Given the description of an element on the screen output the (x, y) to click on. 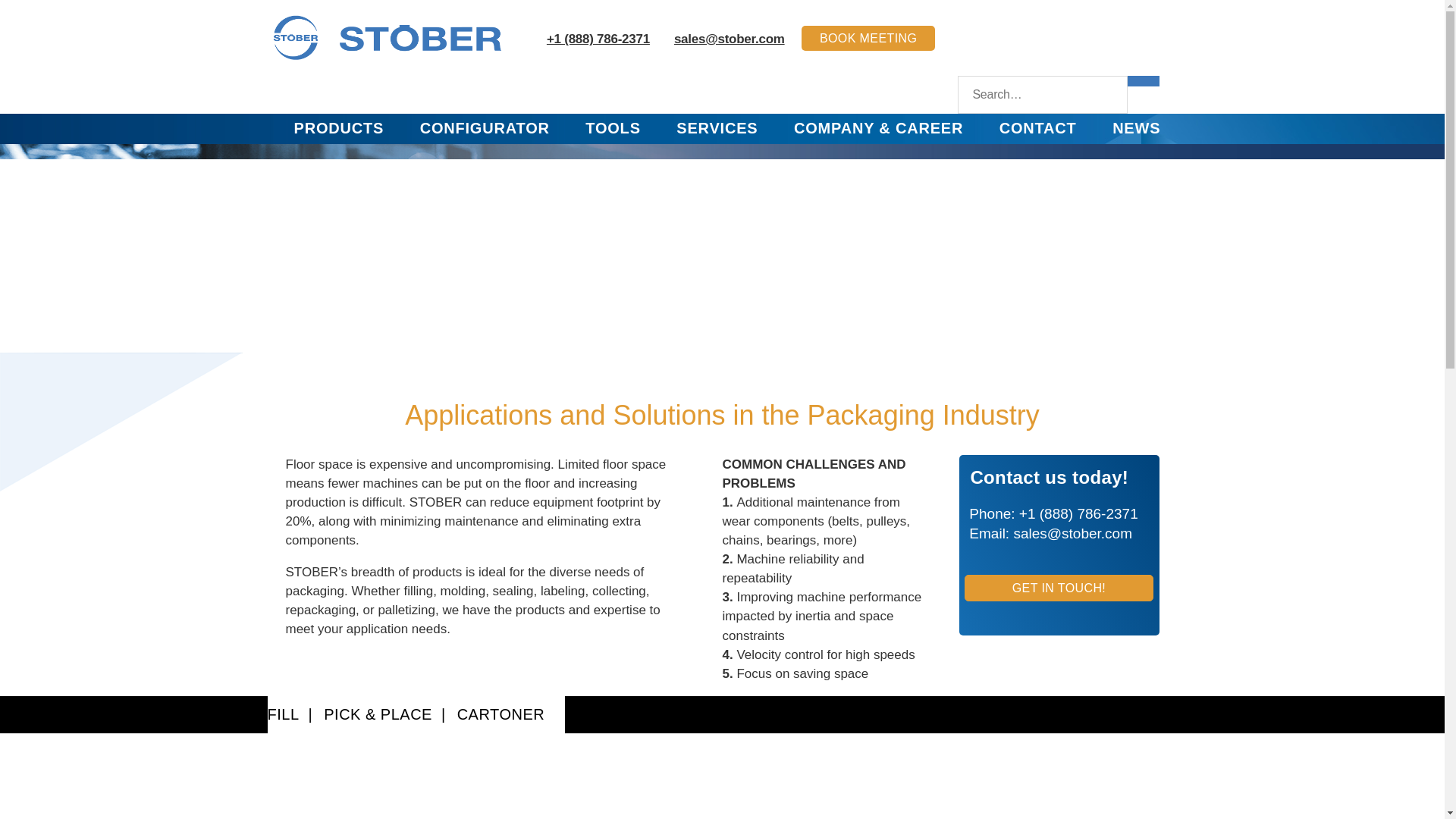
NEWS (1136, 127)
PRODUCTS (339, 127)
TOOLS (612, 127)
CONTACT (1037, 127)
BOOK MEETING (868, 37)
SERVICES (717, 127)
CONFIGURATOR (485, 127)
